Given the description of an element on the screen output the (x, y) to click on. 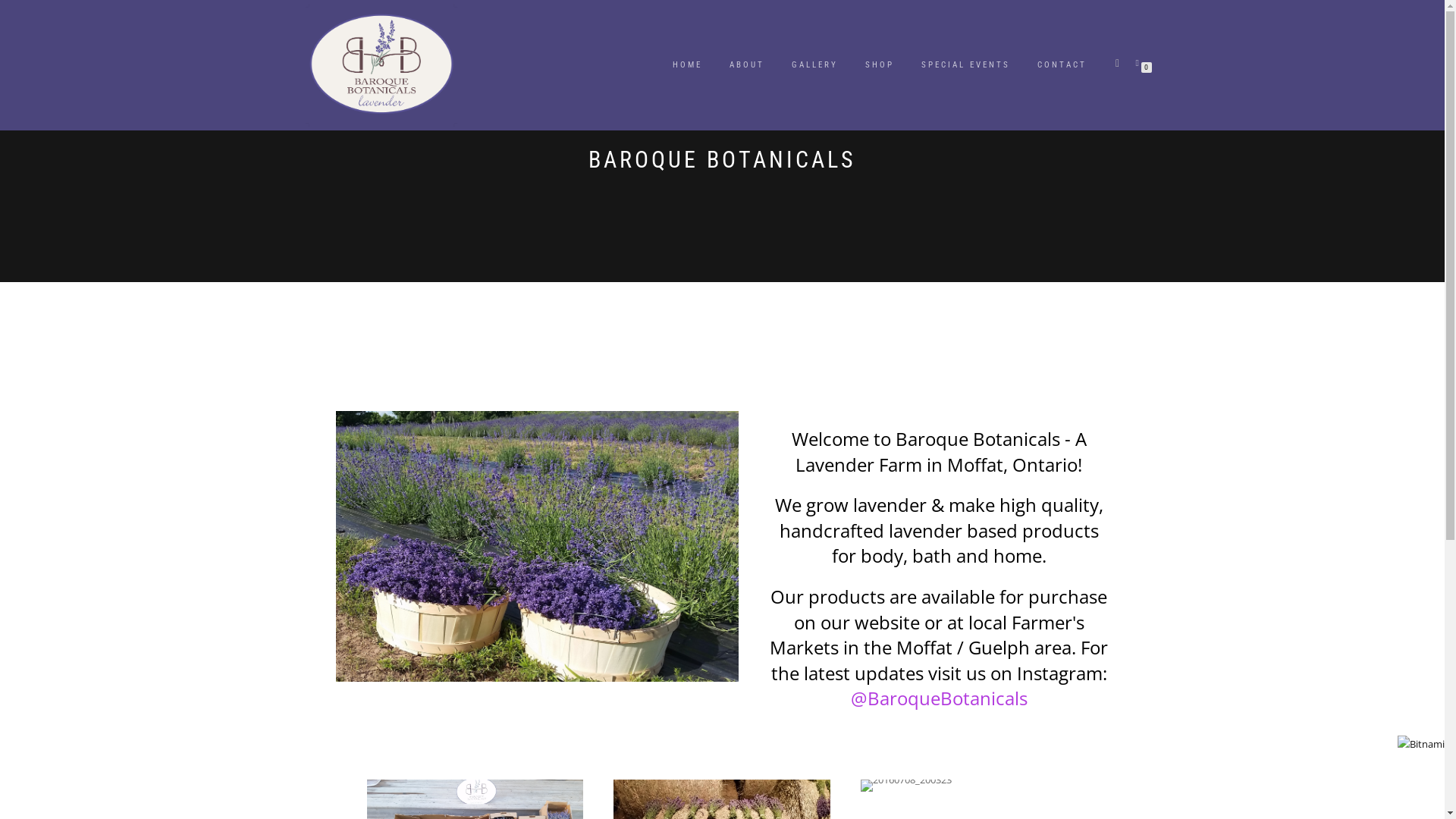
20160630_173204 Element type: hover (536, 546)
GALLERY Element type: text (813, 65)
ABOUT Element type: text (746, 65)
HOME Element type: text (687, 65)
0 Element type: text (1140, 62)
20160708_200323 Element type: hover (905, 785)
@BaroqueBotanicals Element type: text (938, 697)
SHOP Element type: text (879, 65)
CONTACT Element type: text (1061, 65)
SPECIAL EVENTS Element type: text (965, 65)
